Given the description of an element on the screen output the (x, y) to click on. 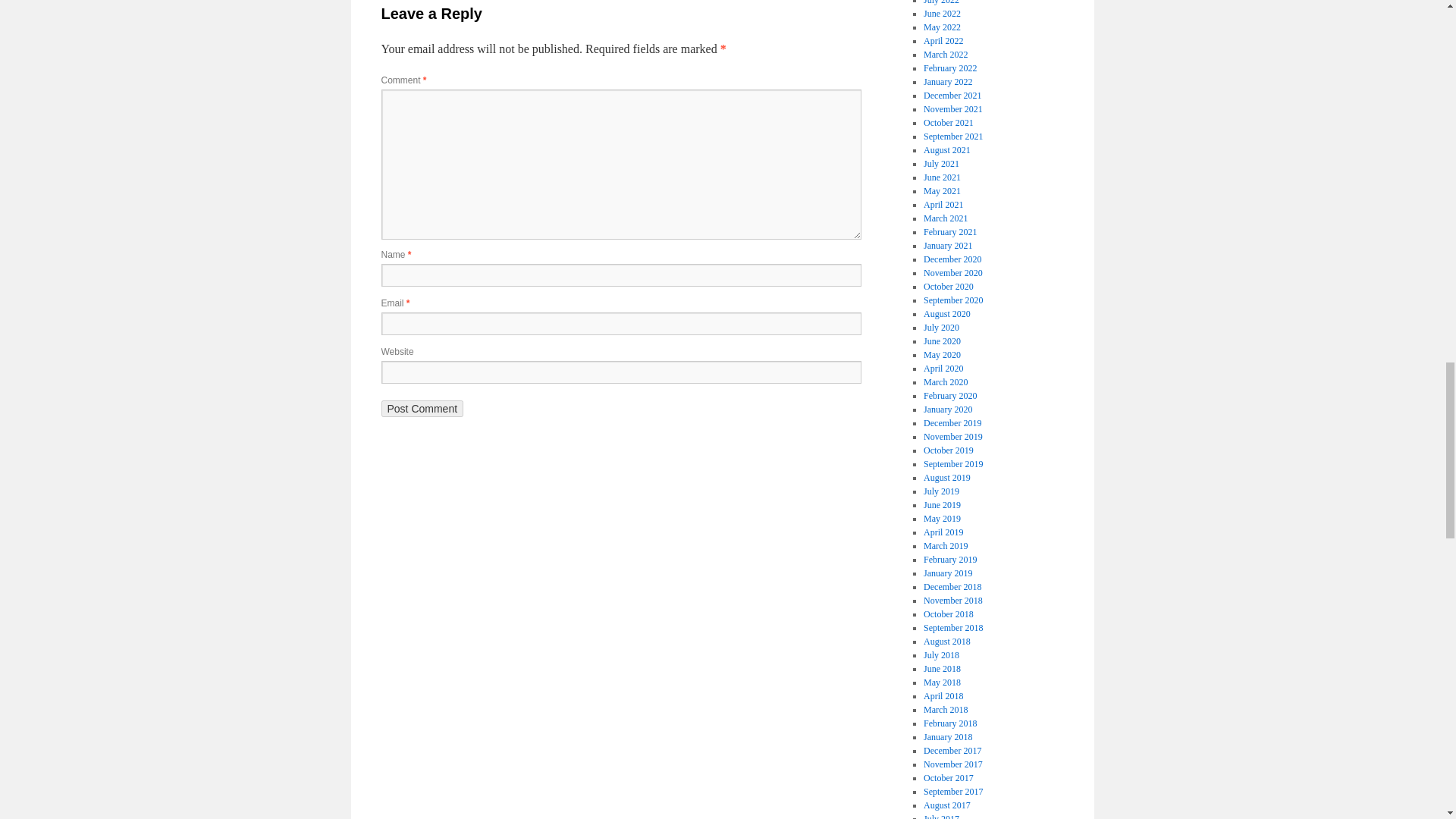
Post Comment (421, 408)
Post Comment (421, 408)
